Given the description of an element on the screen output the (x, y) to click on. 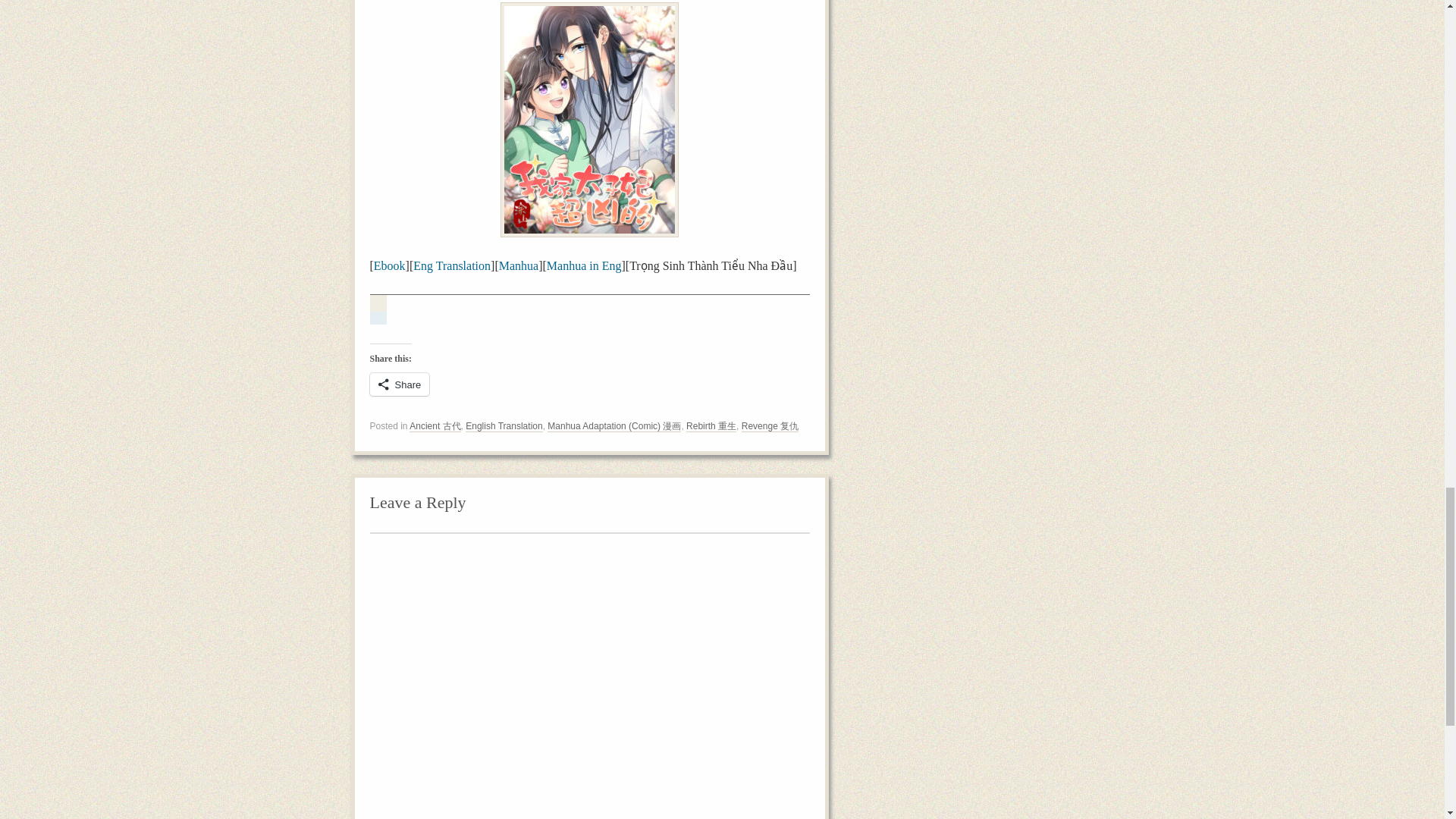
Manhua (518, 265)
Eng Translation (451, 265)
Share (399, 384)
Ebook (390, 265)
English Translation (503, 426)
Manhua in Eng (584, 265)
